Given the description of an element on the screen output the (x, y) to click on. 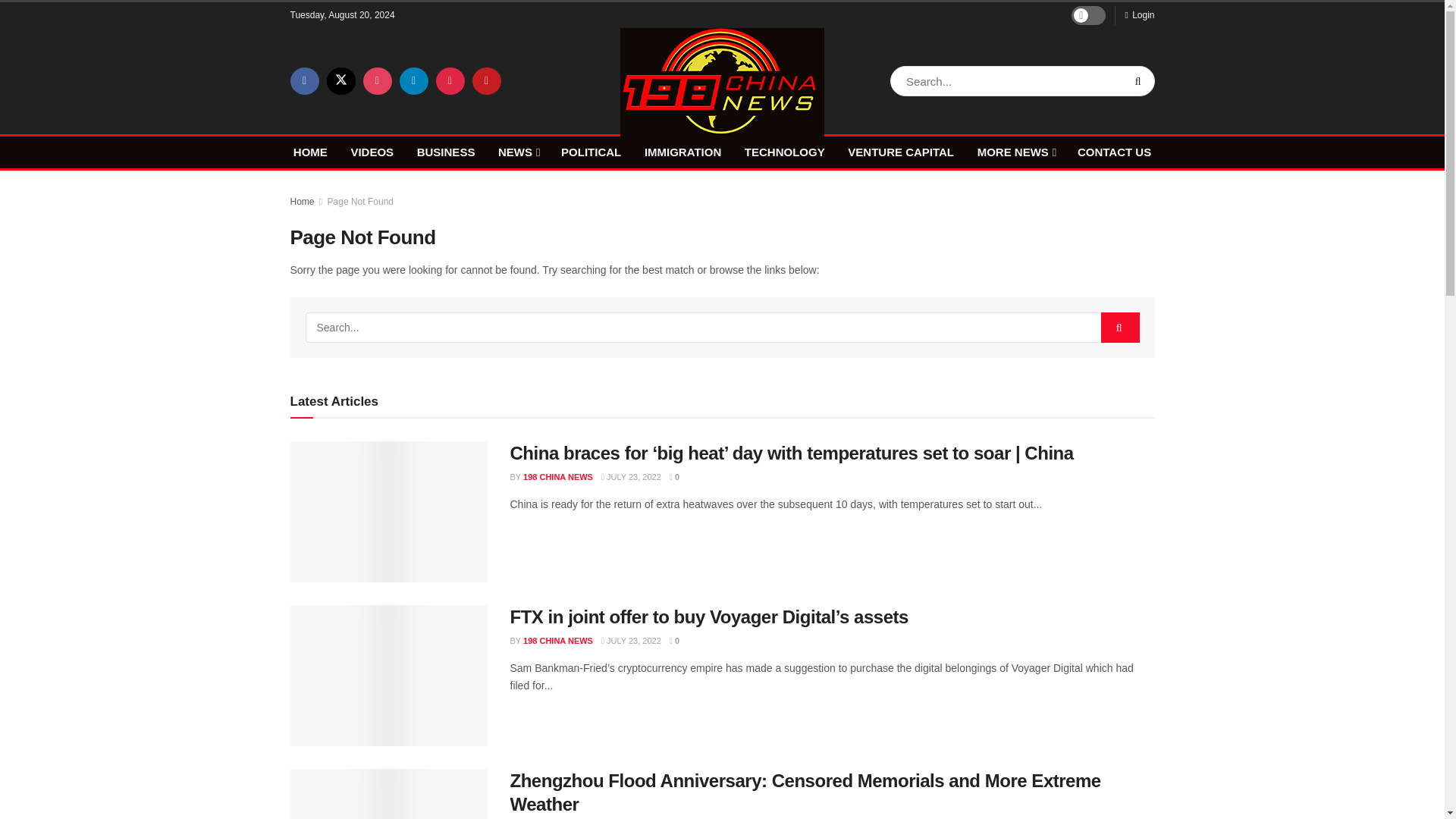
MORE NEWS (1015, 151)
TECHNOLOGY (784, 151)
BUSINESS (446, 151)
VENTURE CAPITAL (900, 151)
CONTACT US (1114, 151)
IMMIGRATION (682, 151)
HOME (310, 151)
POLITICAL (590, 151)
VIDEOS (371, 151)
Login (1139, 14)
